Given the description of an element on the screen output the (x, y) to click on. 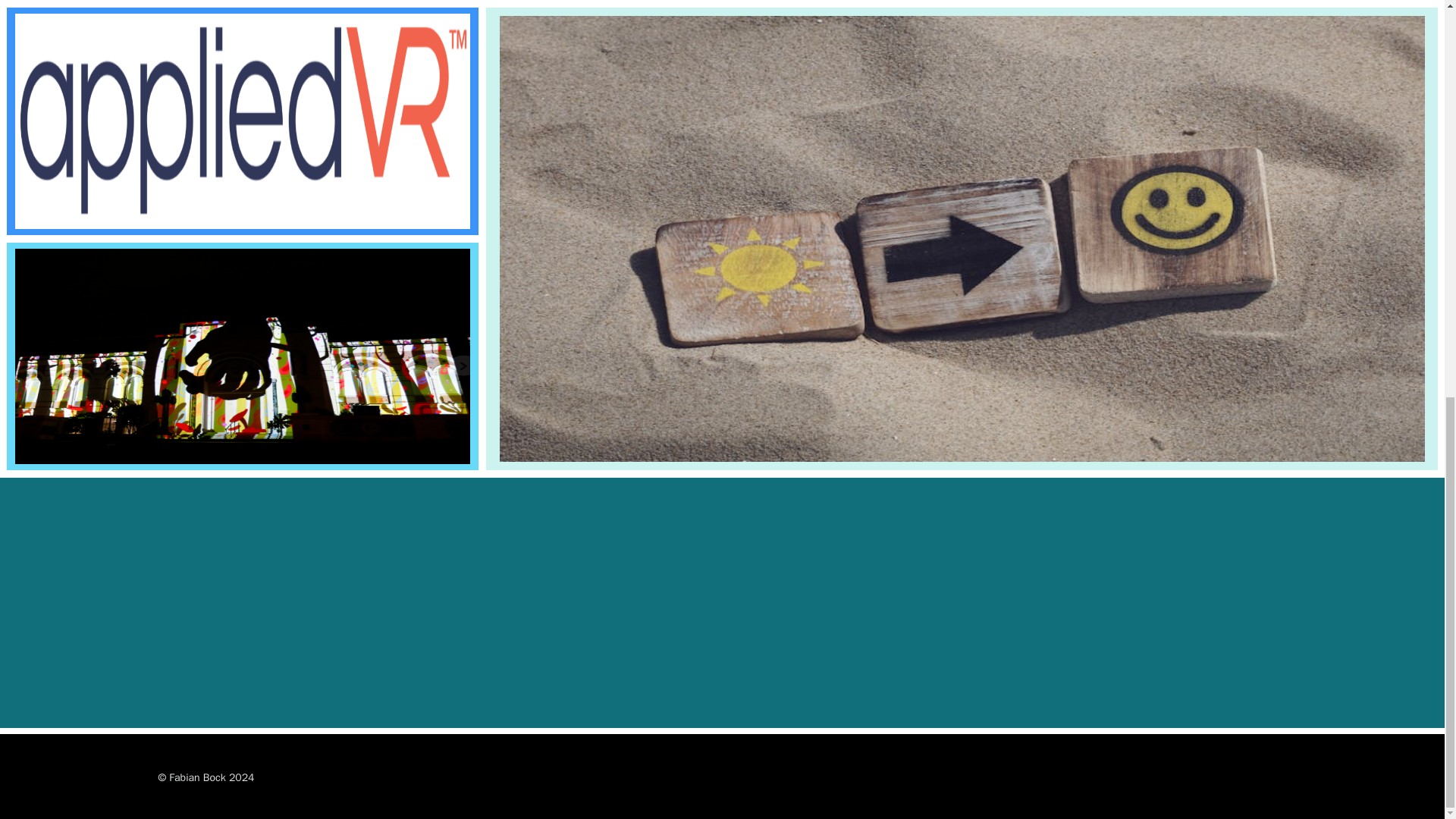
Read More (68, 449)
Read More (68, 214)
Read More (557, 447)
